Given the description of an element on the screen output the (x, y) to click on. 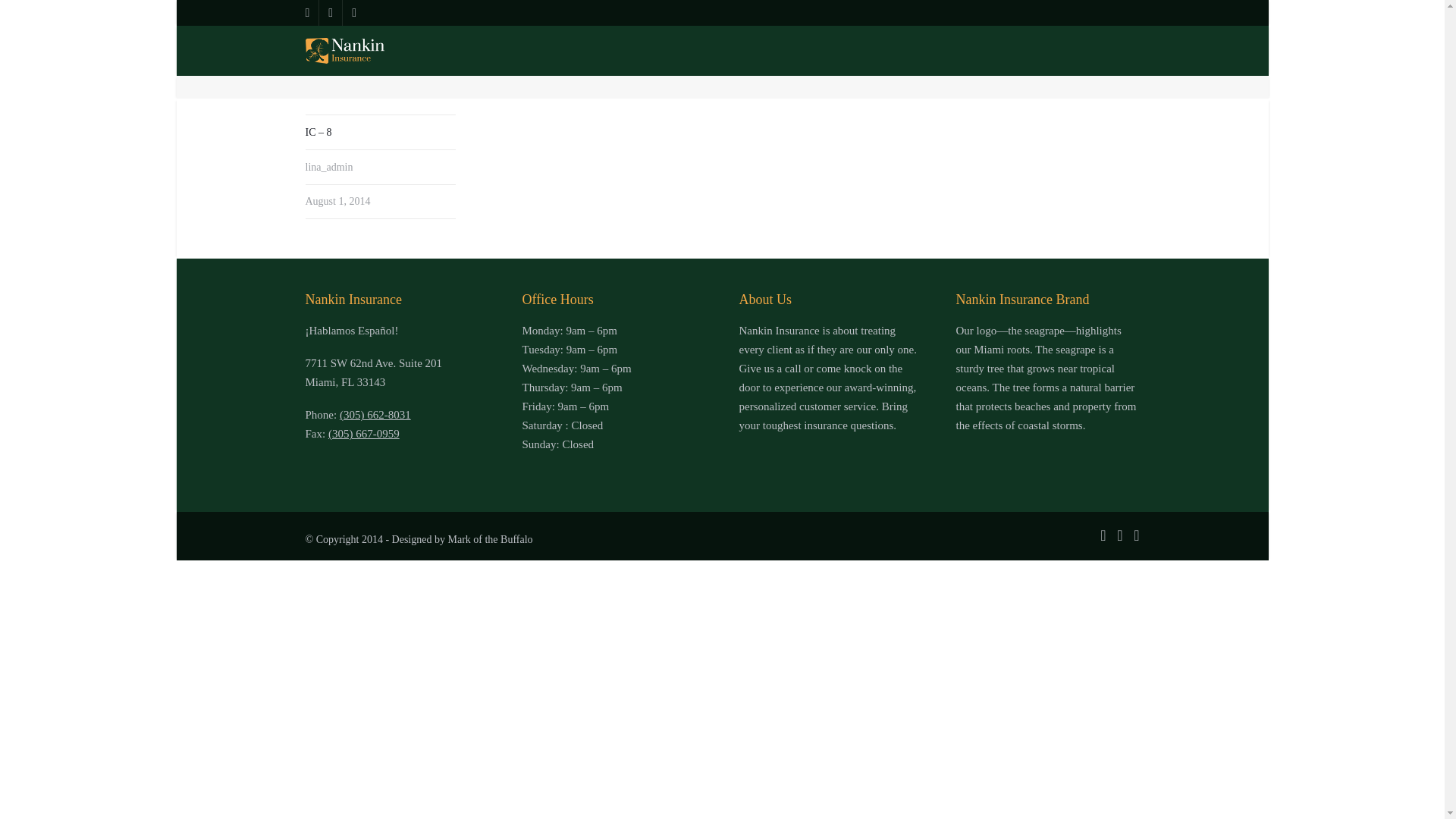
Mark of the Buffalo (489, 539)
